Given the description of an element on the screen output the (x, y) to click on. 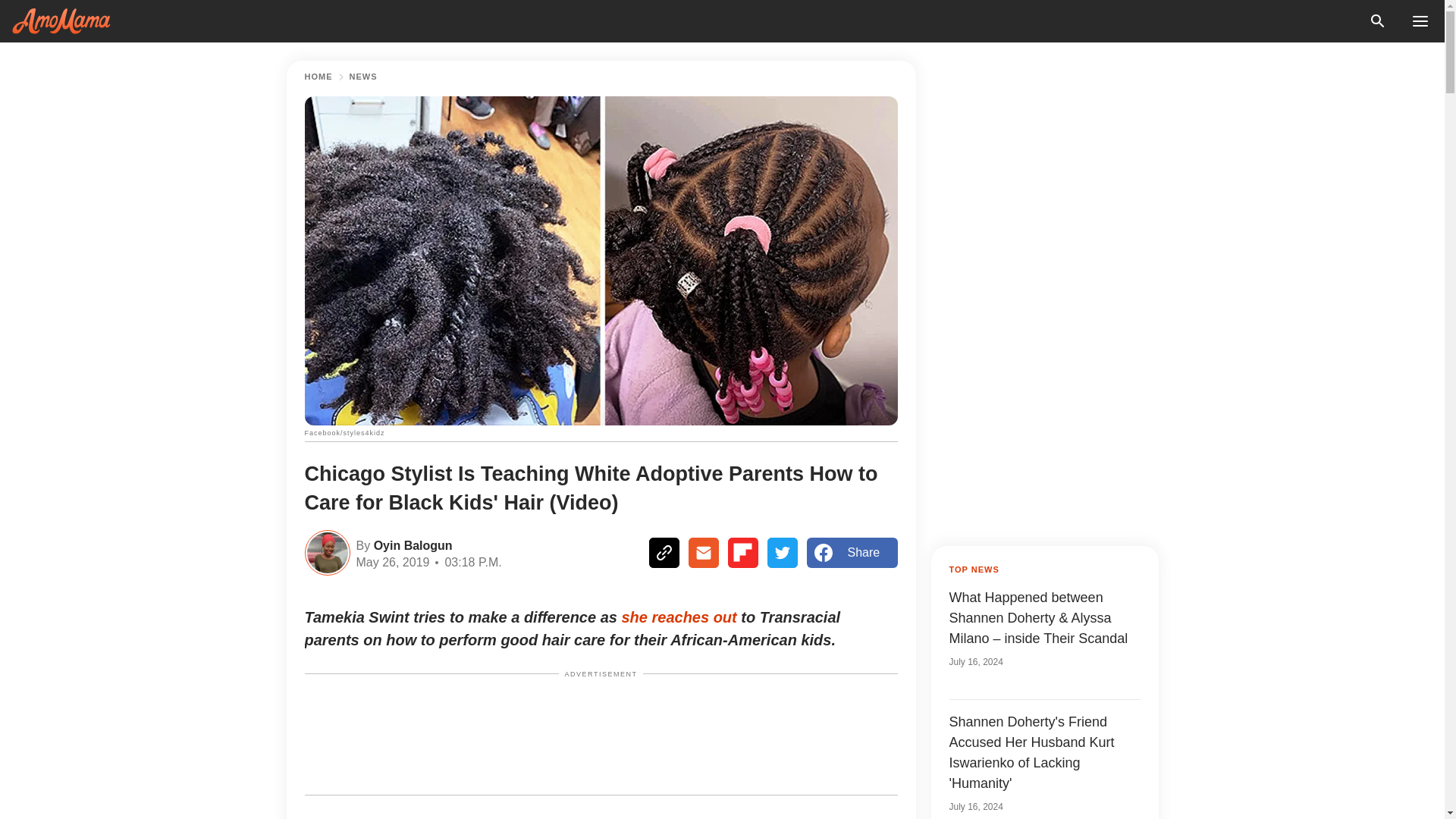
Oyin Balogun (410, 544)
HOME (318, 76)
NEWS (363, 76)
